Given the description of an element on the screen output the (x, y) to click on. 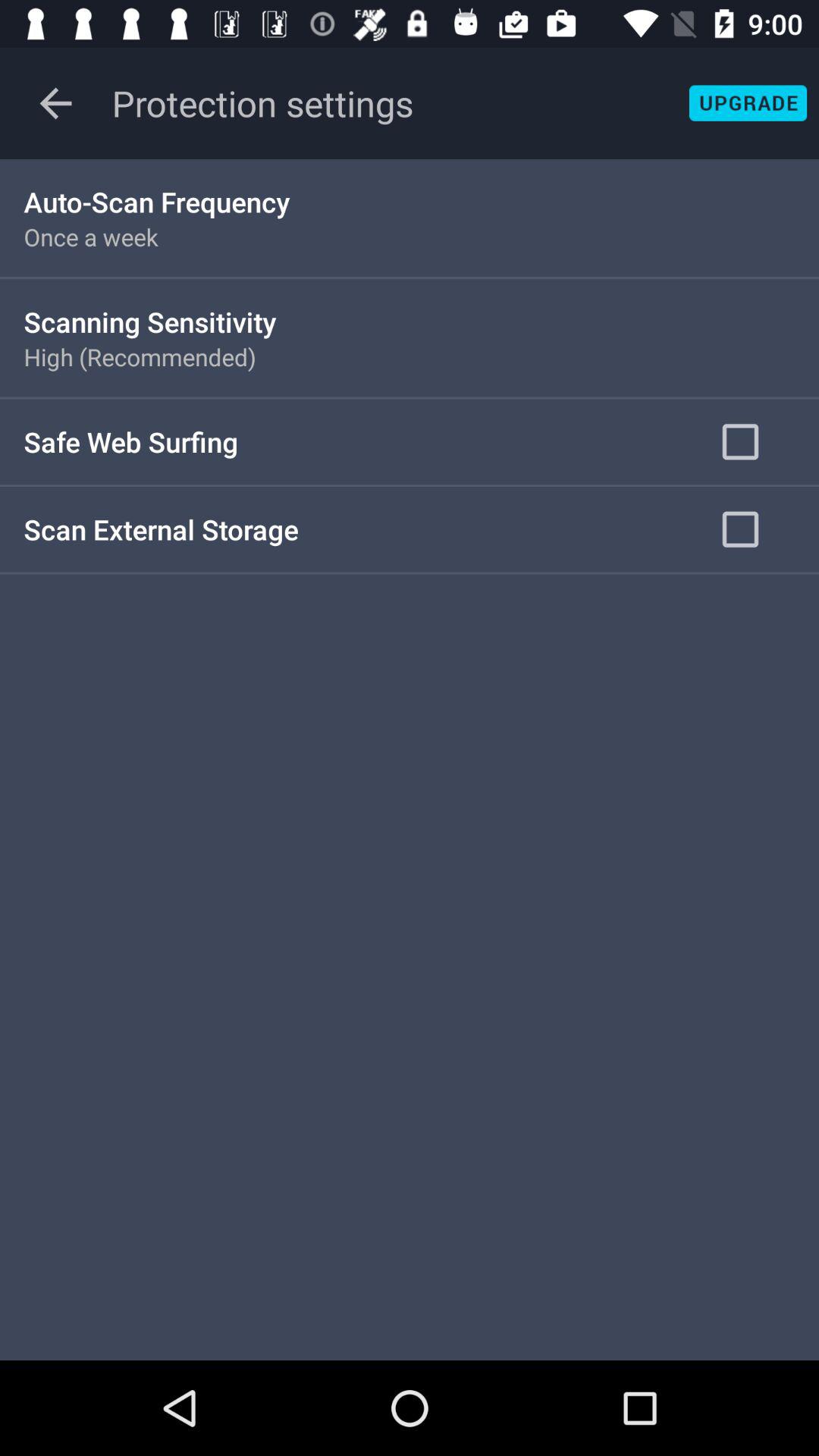
go back (55, 103)
